Given the description of an element on the screen output the (x, y) to click on. 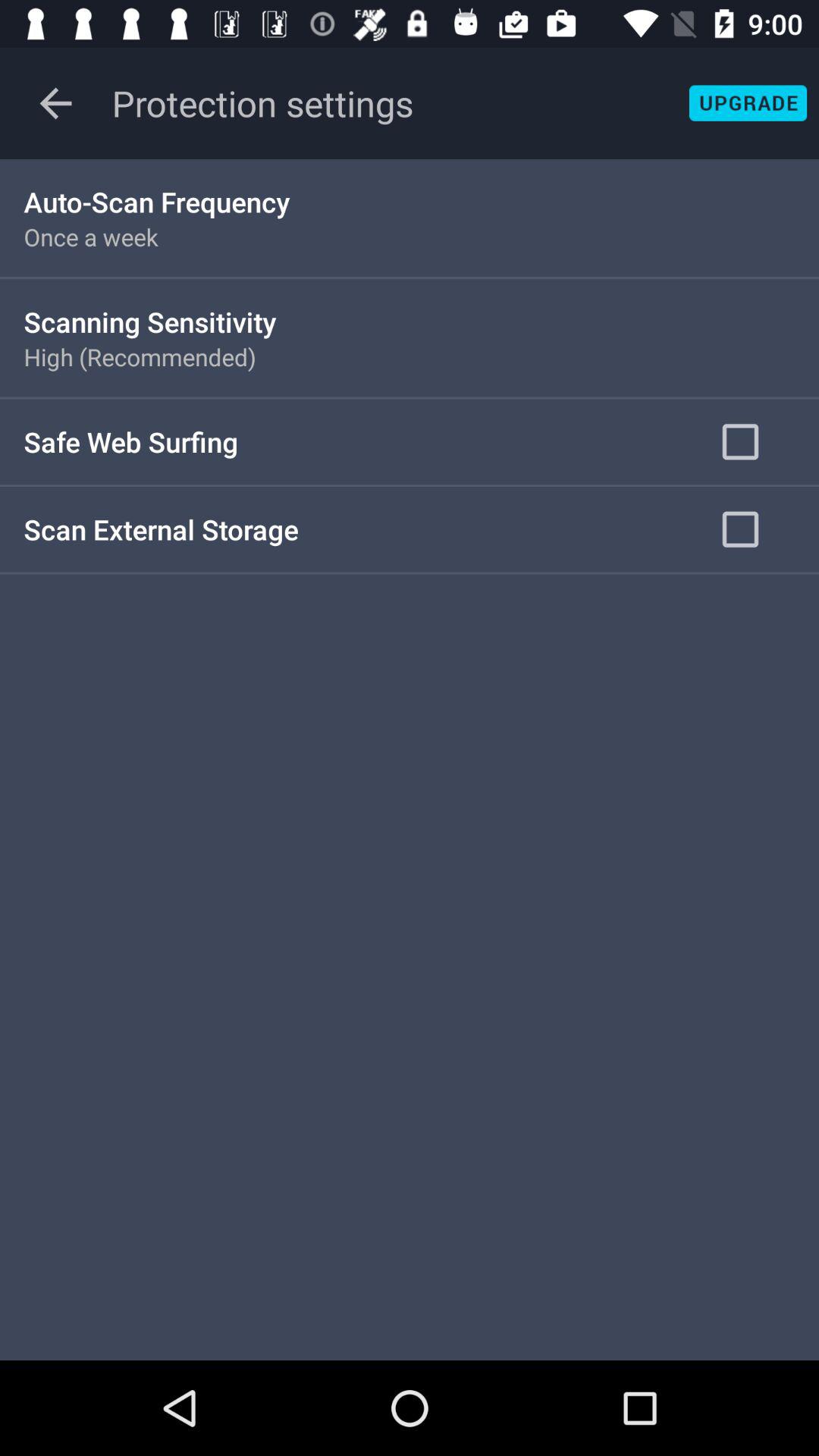
go back (55, 103)
